Given the description of an element on the screen output the (x, y) to click on. 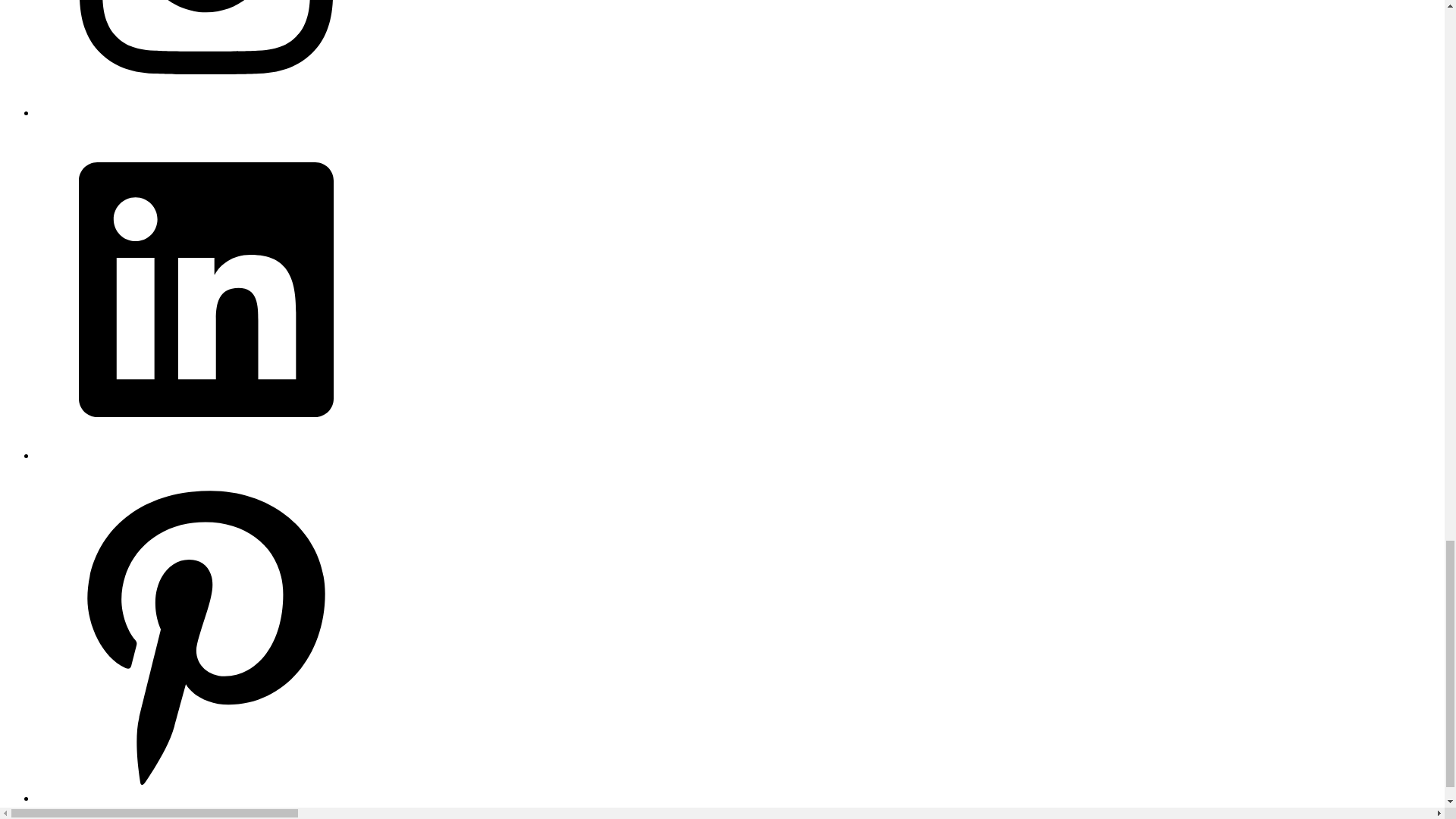
Open Instagram in a new tab (205, 112)
Open LinkedIn in a new tab (205, 454)
Open Pinterest in a new tab (205, 797)
